Given the description of an element on the screen output the (x, y) to click on. 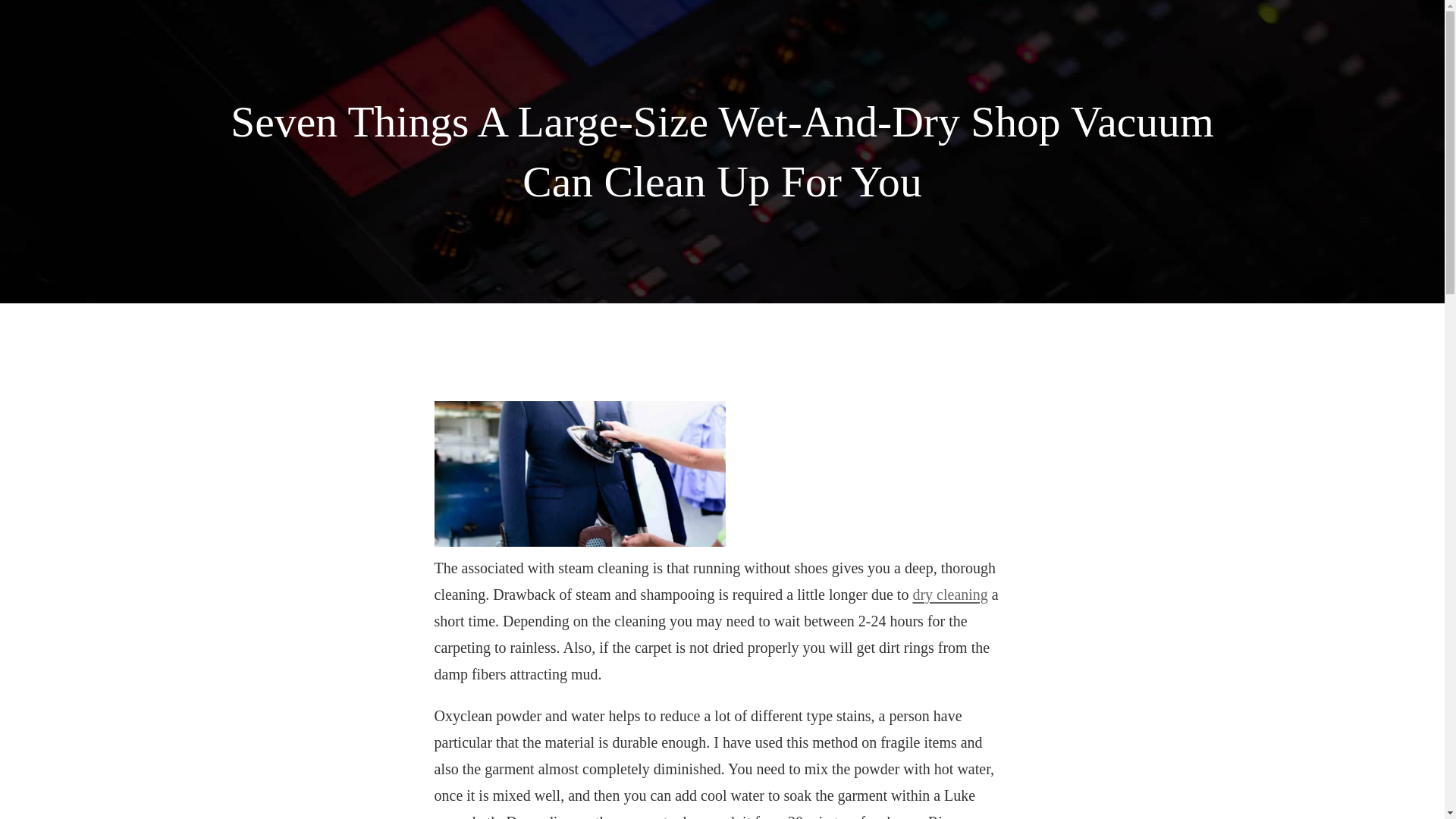
dry cleaning (949, 594)
